Given the description of an element on the screen output the (x, y) to click on. 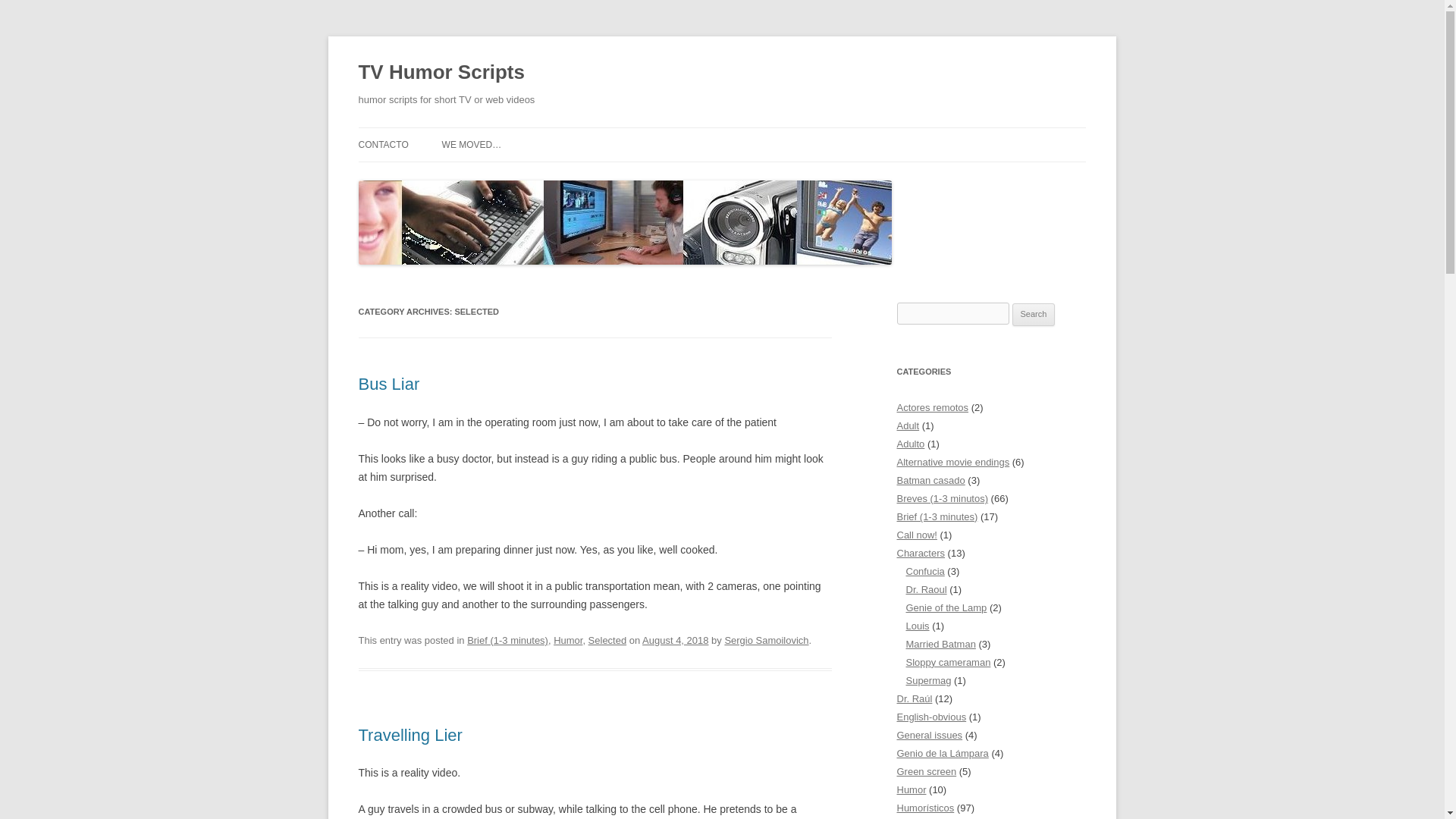
August 4, 2018 (674, 640)
TV Humor Scripts (441, 72)
Travelling Lier (409, 734)
View all posts by Sergio Samoilovich (765, 640)
TV Humor Scripts (441, 72)
Sergio Samoilovich (765, 640)
Search (1033, 314)
Humor (567, 640)
